Given the description of an element on the screen output the (x, y) to click on. 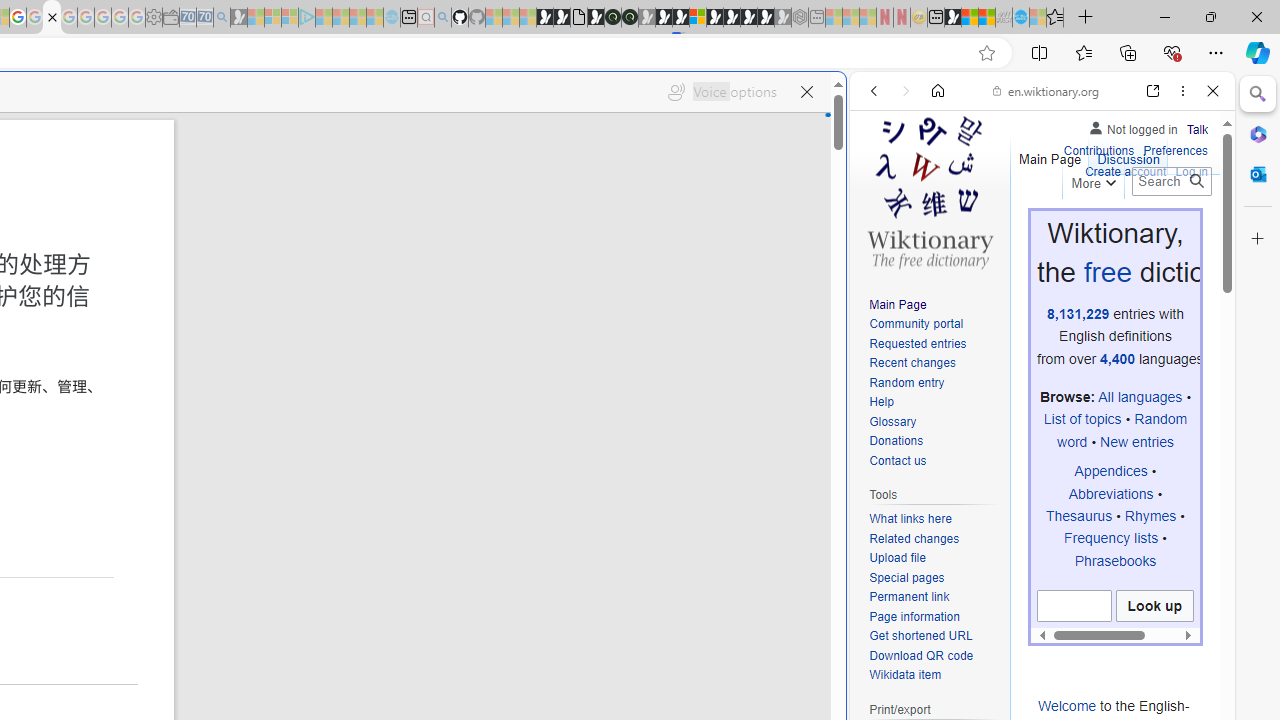
Search Filter, VIDEOS (1006, 228)
Related changes (914, 538)
Main Page (934, 305)
SEARCH TOOLS (1093, 228)
Search Filter, IMAGES (939, 228)
google_privacy_policy_zh-CN.pdf (51, 17)
Wiktionary (1034, 669)
Discussion (1128, 154)
Glossary (934, 421)
Look up (1154, 605)
